Given the description of an element on the screen output the (x, y) to click on. 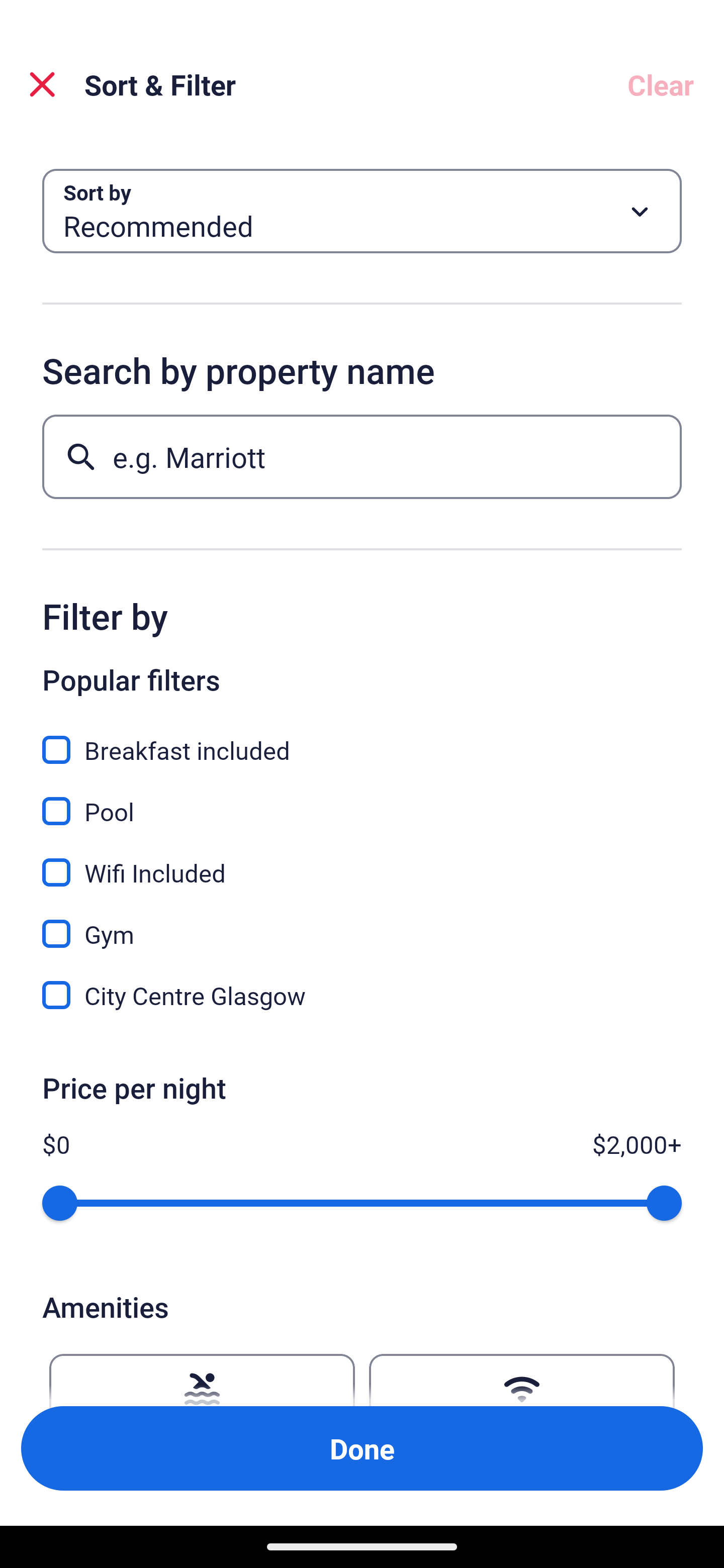
Close Sort and Filter (42, 84)
Clear (660, 84)
Sort by Button Recommended (361, 211)
e.g. Marriott Button (361, 455)
Breakfast included, Breakfast included (361, 738)
Pool, Pool (361, 800)
Wifi Included, Wifi Included (361, 861)
Gym, Gym (361, 922)
City Centre Glasgow, City Centre Glasgow (361, 995)
Apply and close Sort and Filter Done (361, 1448)
